Given the description of an element on the screen output the (x, y) to click on. 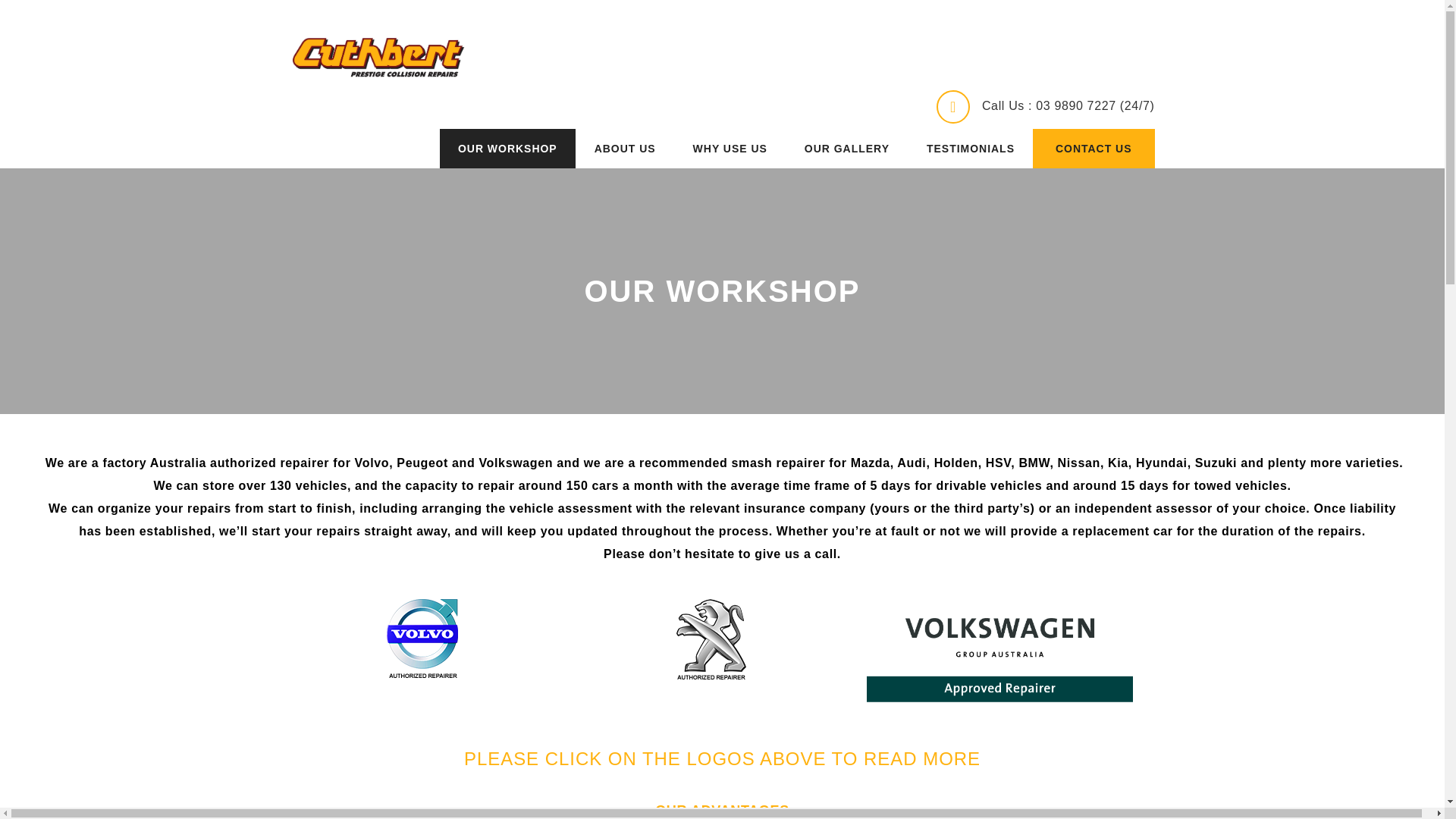
Our Gallery (846, 148)
Cuthbert Automotive (376, 56)
Volkswagen (999, 656)
About Us (625, 148)
Contact Us (1093, 148)
ABOUT US (625, 148)
TESTIMONIALS (970, 148)
Testimonials (970, 148)
Our Workshop (507, 148)
CONTACT US (1093, 148)
WHY USE US (730, 148)
Why Use Us (730, 148)
OUR GALLERY (846, 148)
OUR WORKSHOP (507, 148)
